Given the description of an element on the screen output the (x, y) to click on. 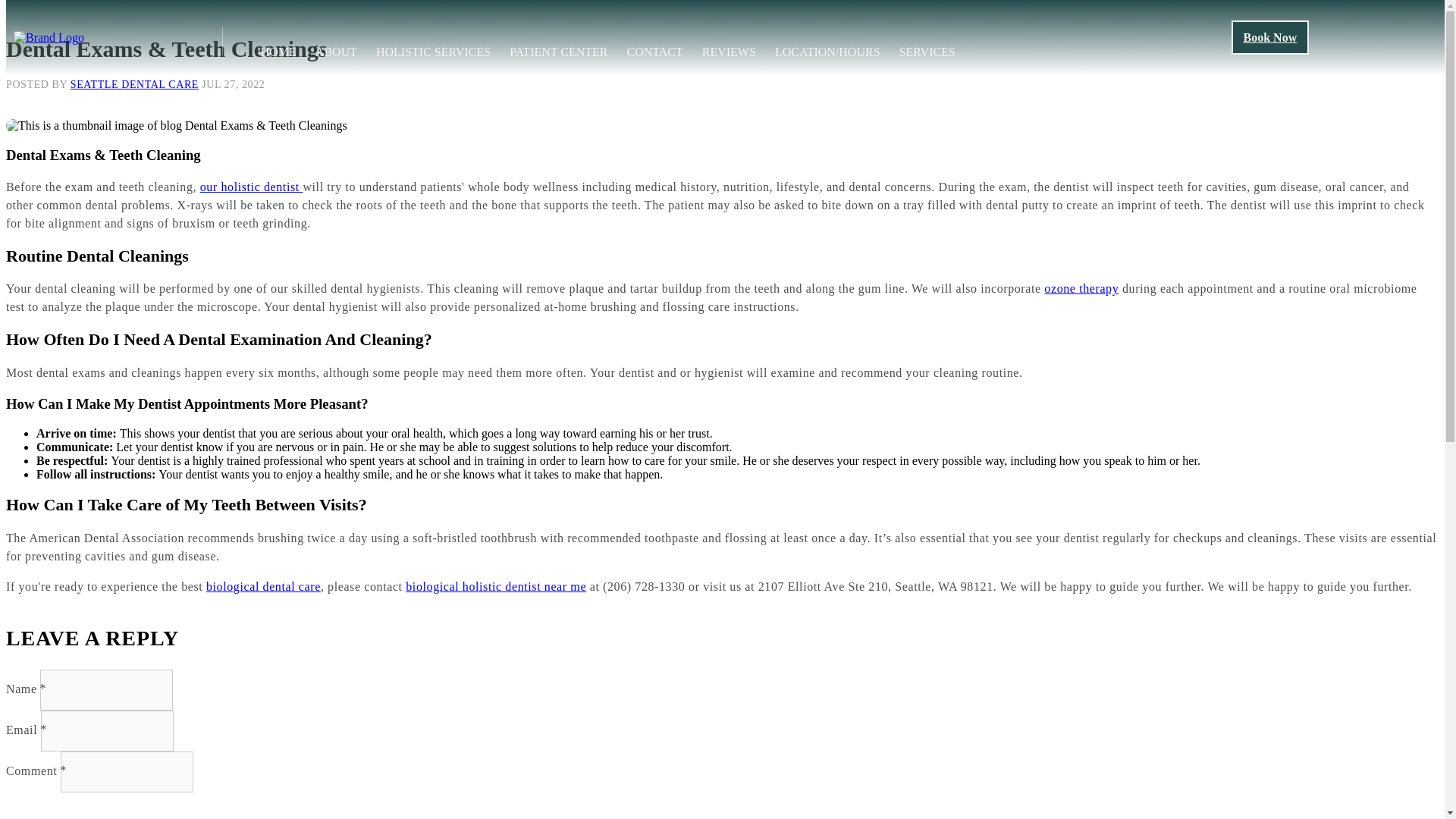
REVIEWS (728, 51)
Book Now (1269, 37)
SERVICES (927, 51)
CONTACT (654, 51)
HOME (278, 51)
Brand Logo (48, 38)
PATIENT CENTER (558, 51)
ABOUT (335, 51)
HOLISTIC SERVICES (432, 51)
